Given the description of an element on the screen output the (x, y) to click on. 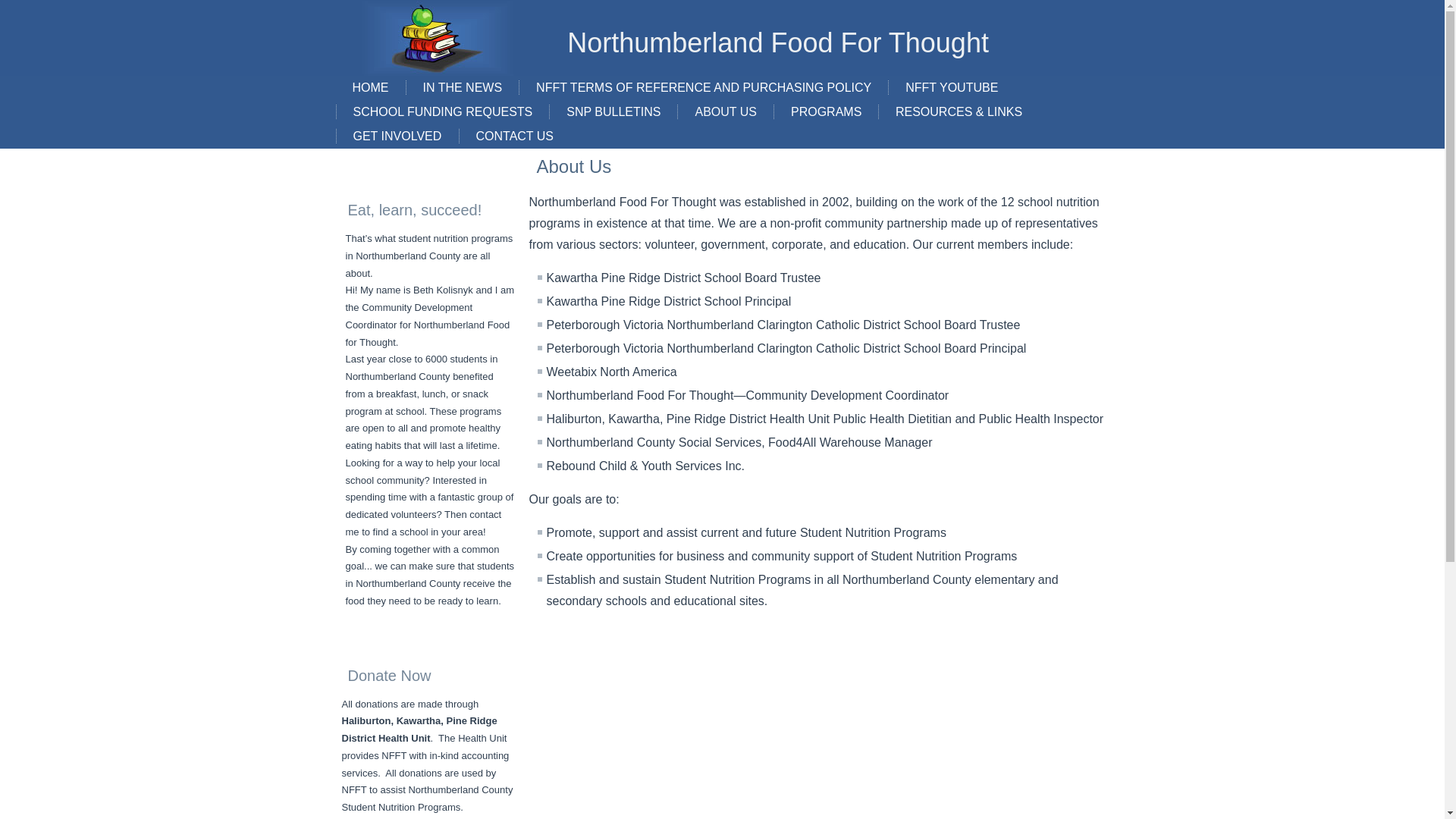
GET INVOLVED (397, 136)
NFFT TERMS OF REFERENCE AND PURCHASING POLICY (703, 87)
NFFT Terms of Reference and Purchasing Policy (703, 87)
NFFT youtube (951, 87)
SNP Bulletins (613, 111)
CONTACT US (515, 136)
Programs (825, 111)
SNP BULLETINS (613, 111)
ABOUT US (725, 111)
NFFT YOUTUBE (951, 87)
